Given the description of an element on the screen output the (x, y) to click on. 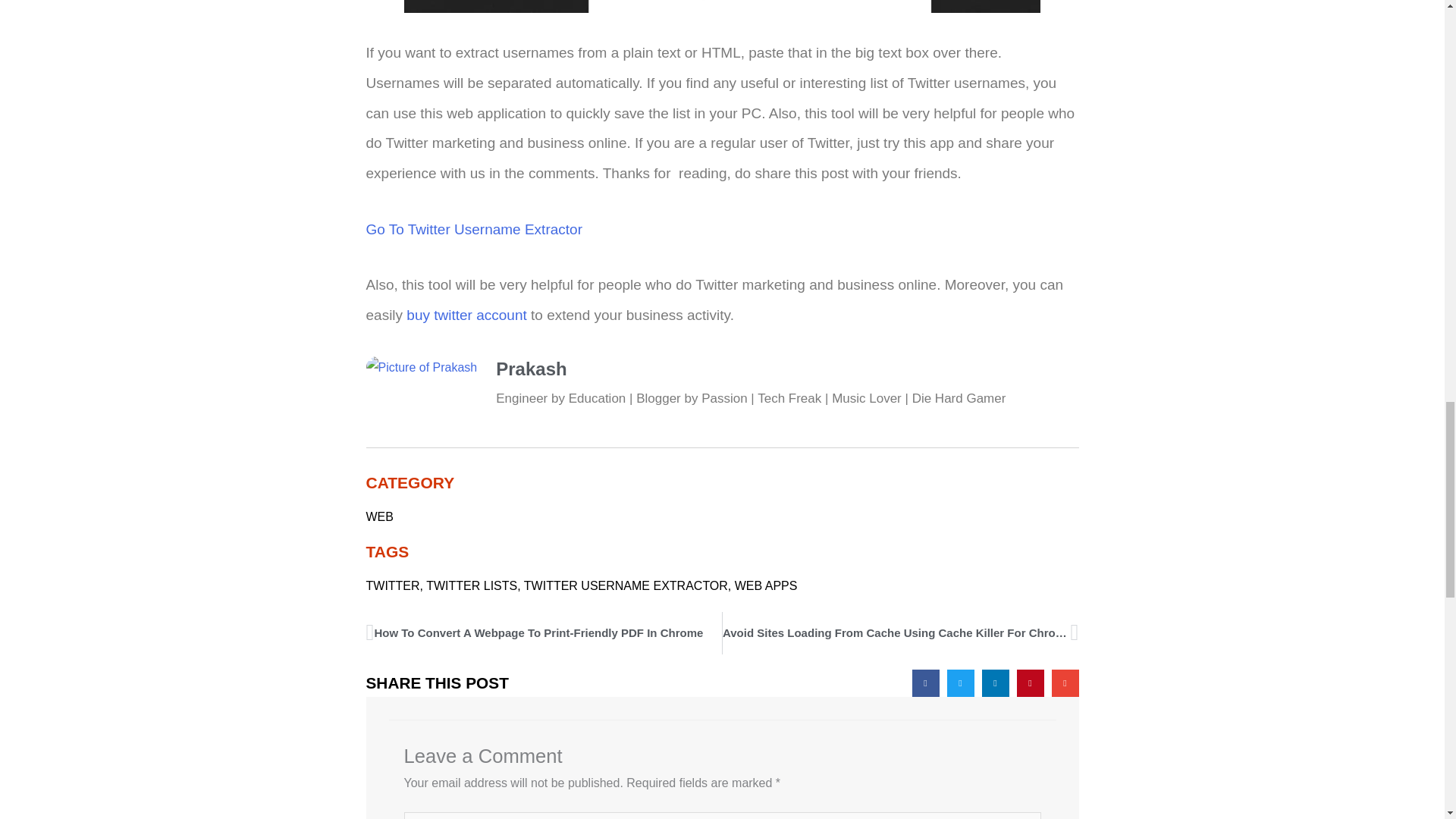
buy twitter account (465, 314)
TWITTER USERNAME EXTRACTOR (626, 585)
TWITTER LISTS (471, 585)
WEB APPS (766, 585)
Prakash (787, 369)
Go To Twitter Username Extractor (472, 229)
WEB (379, 516)
TWITTER (392, 585)
